Given the description of an element on the screen output the (x, y) to click on. 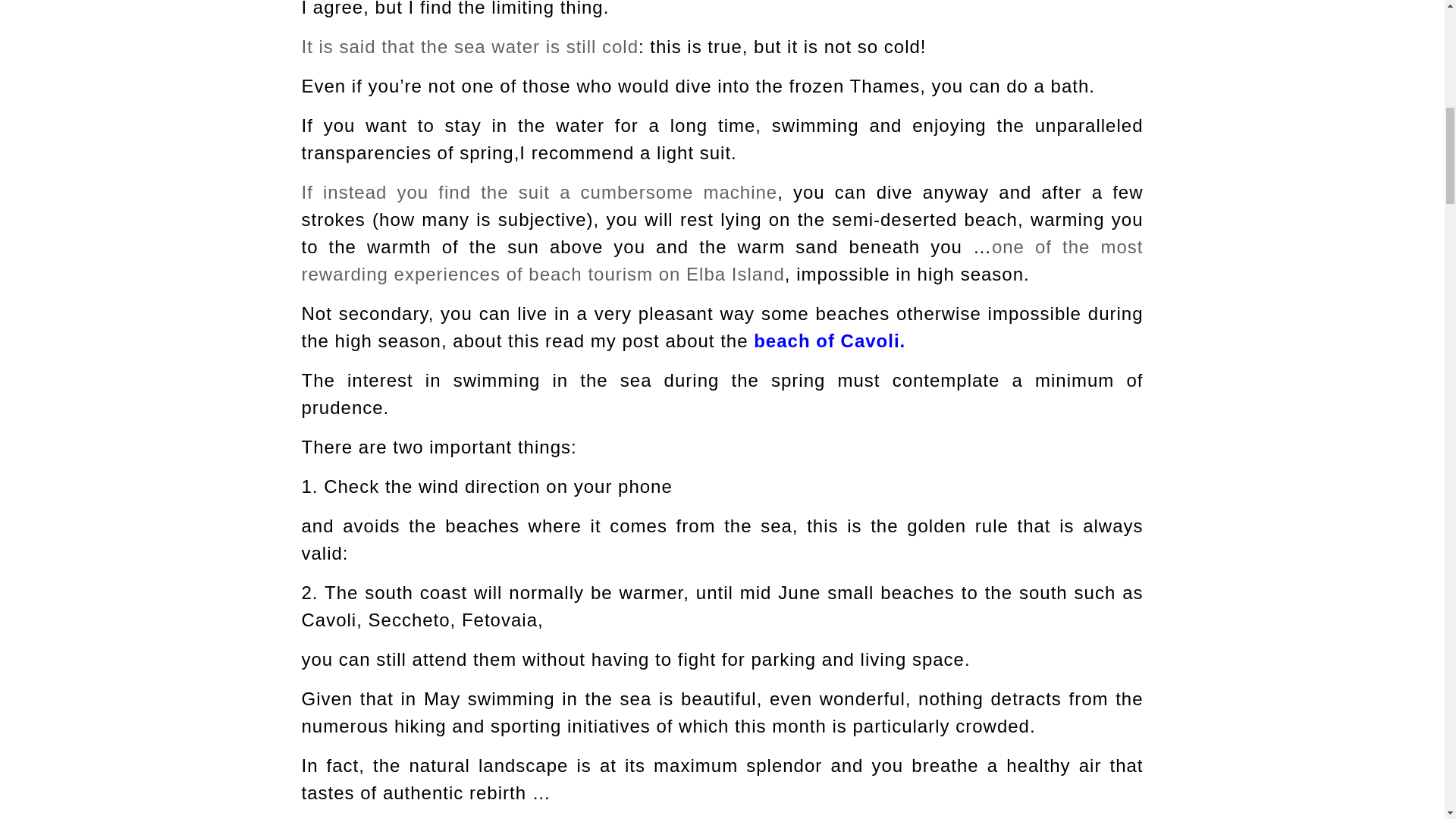
beach of Cavoli. (826, 340)
